Given the description of an element on the screen output the (x, y) to click on. 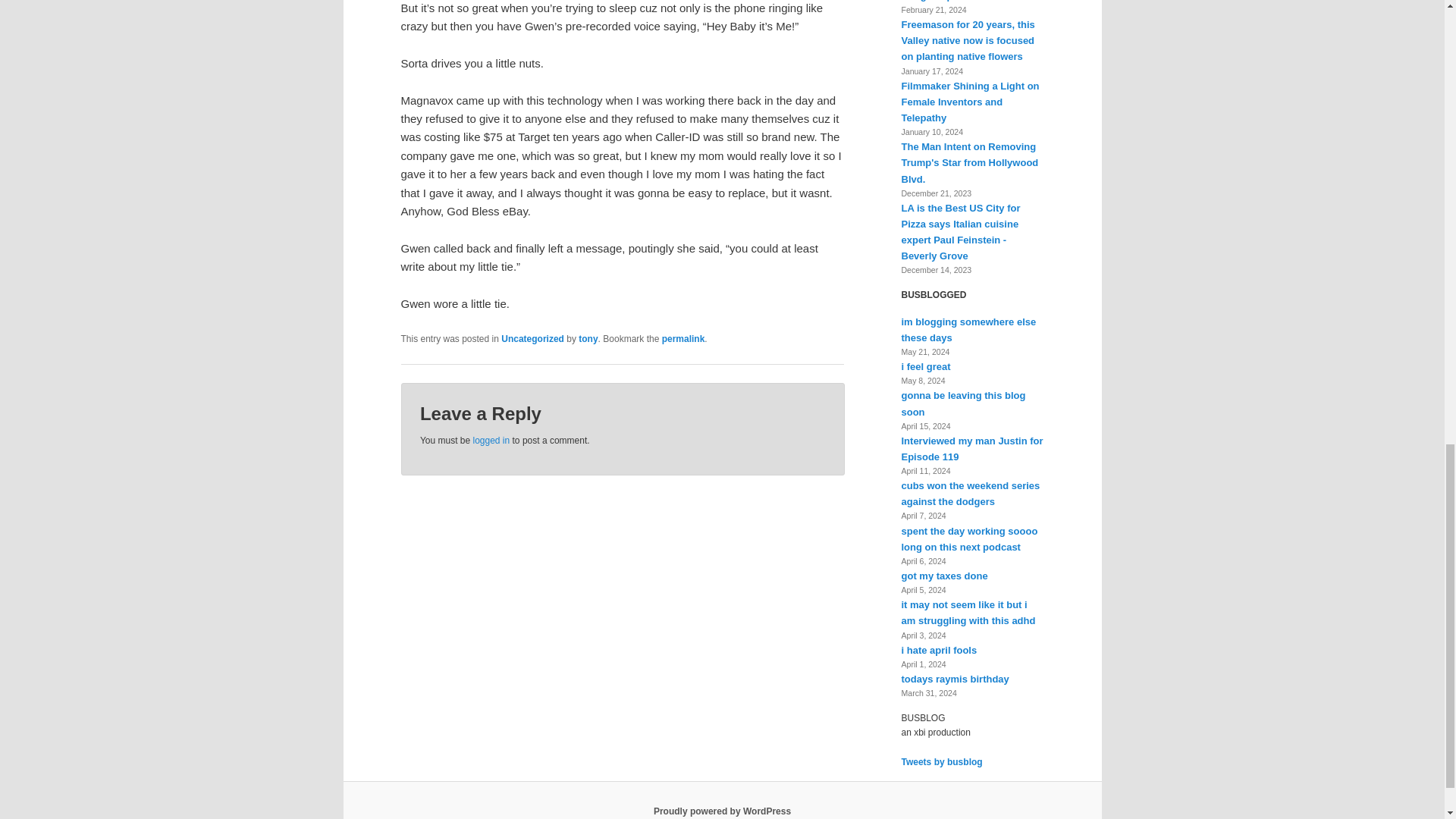
Uncategorized (532, 338)
logged in (490, 439)
tony (587, 338)
Semantic Personal Publishing Platform (721, 810)
permalink (683, 338)
